Given the description of an element on the screen output the (x, y) to click on. 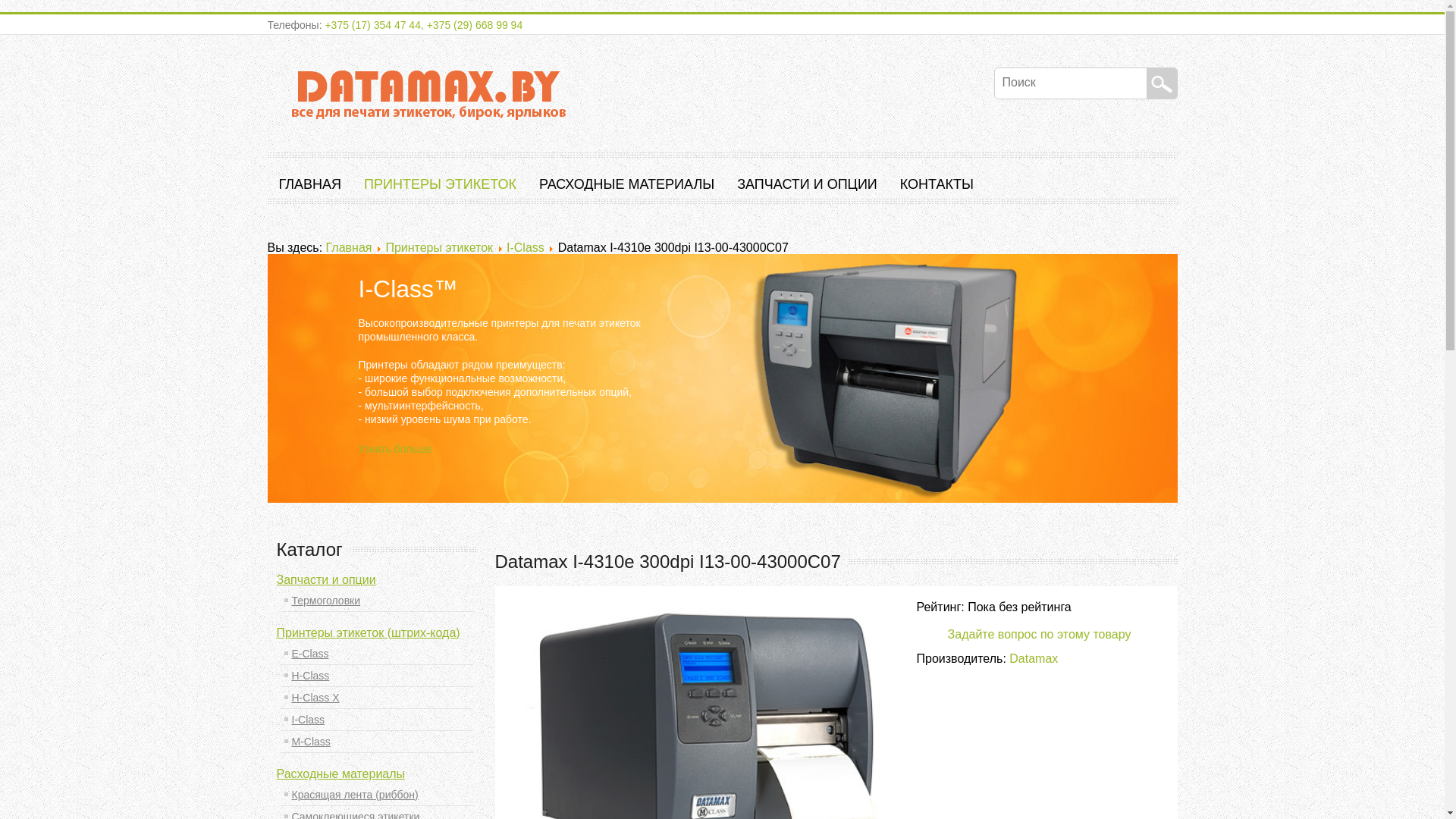
H-Class Element type: text (375, 675)
H-Class X Element type: text (375, 697)
M-Class Element type: text (375, 741)
I-Class Element type: text (375, 719)
Datamax Element type: text (1033, 658)
I-Class Element type: text (525, 247)
E-Class Element type: text (375, 653)
